Given the description of an element on the screen output the (x, y) to click on. 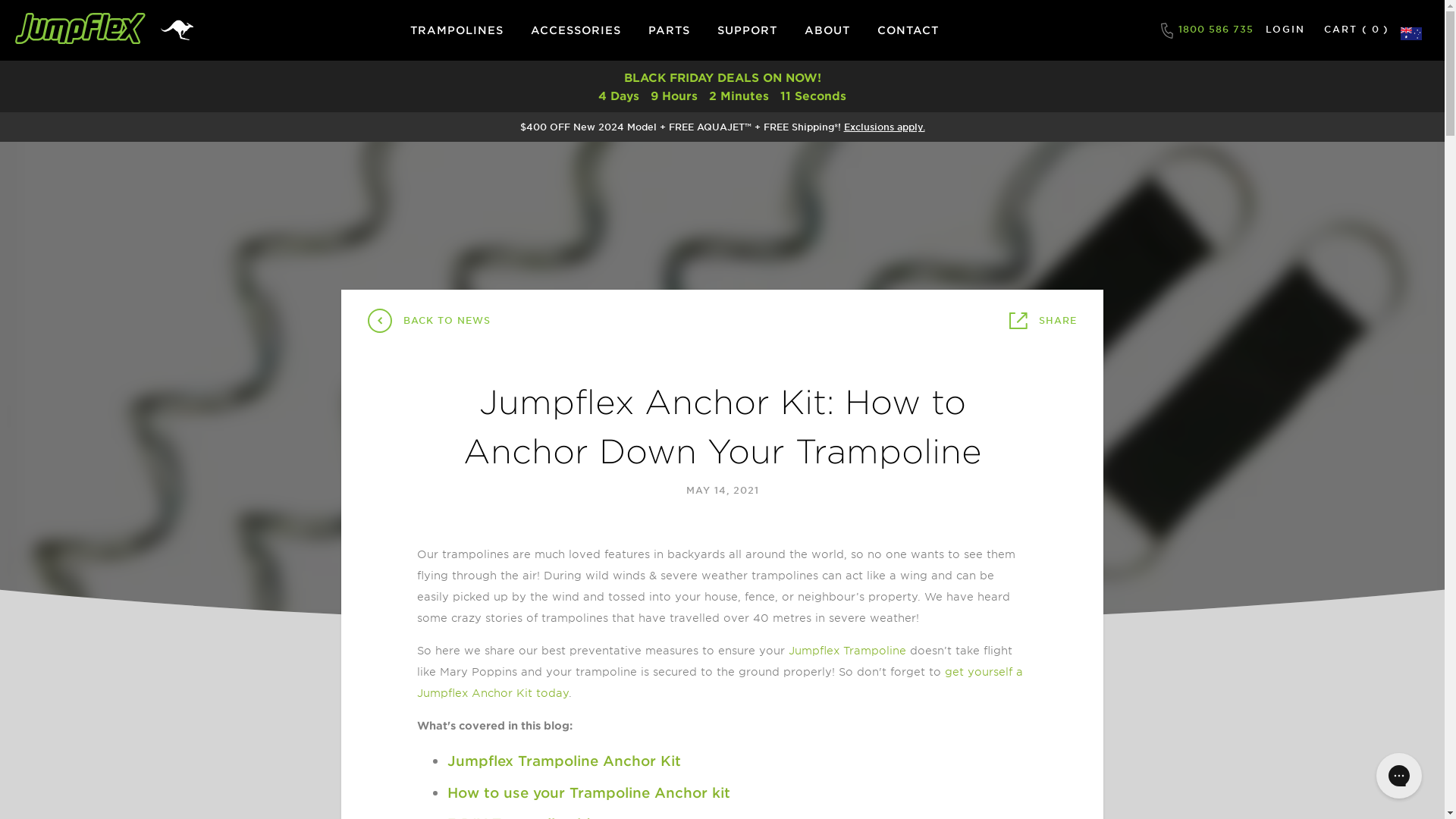
PARTS Element type: text (669, 30)
ABOUT Element type: text (827, 30)
How to use your Trampoline Anchor kit  Element type: text (590, 792)
TRAMPOLINES Element type: text (456, 30)
get yourself a Jumpflex Anchor Kit today Element type: text (719, 682)
Jumpflex Trampoline Element type: text (847, 649)
SUPPORT Element type: text (747, 30)
CART (0) Element type: text (1356, 27)
BACK TO NEWS Element type: text (428, 320)
Jumpflex Element type: hover (80, 30)
Gorgias live chat messenger Element type: hover (1398, 775)
1800 586 735 Element type: text (1206, 29)
Exclusions apply. Element type: text (883, 126)
LOGIN Element type: text (1285, 29)
ACCESSORIES Element type: text (575, 30)
Jumpflex Trampoline Anchor Kit Element type: text (563, 760)
CONTACT Element type: text (907, 30)
